Given the description of an element on the screen output the (x, y) to click on. 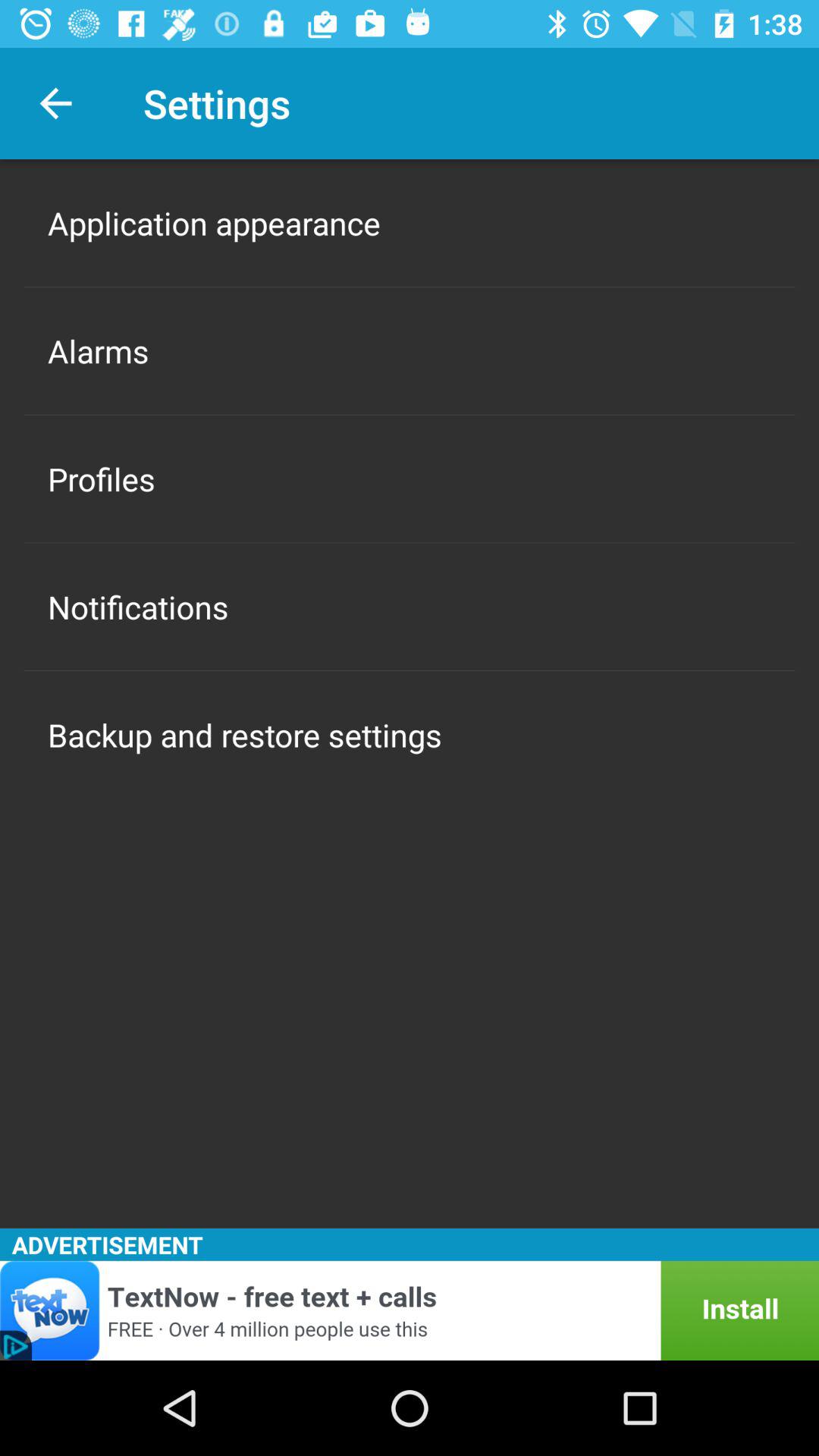
click for advertisement (409, 1310)
